Given the description of an element on the screen output the (x, y) to click on. 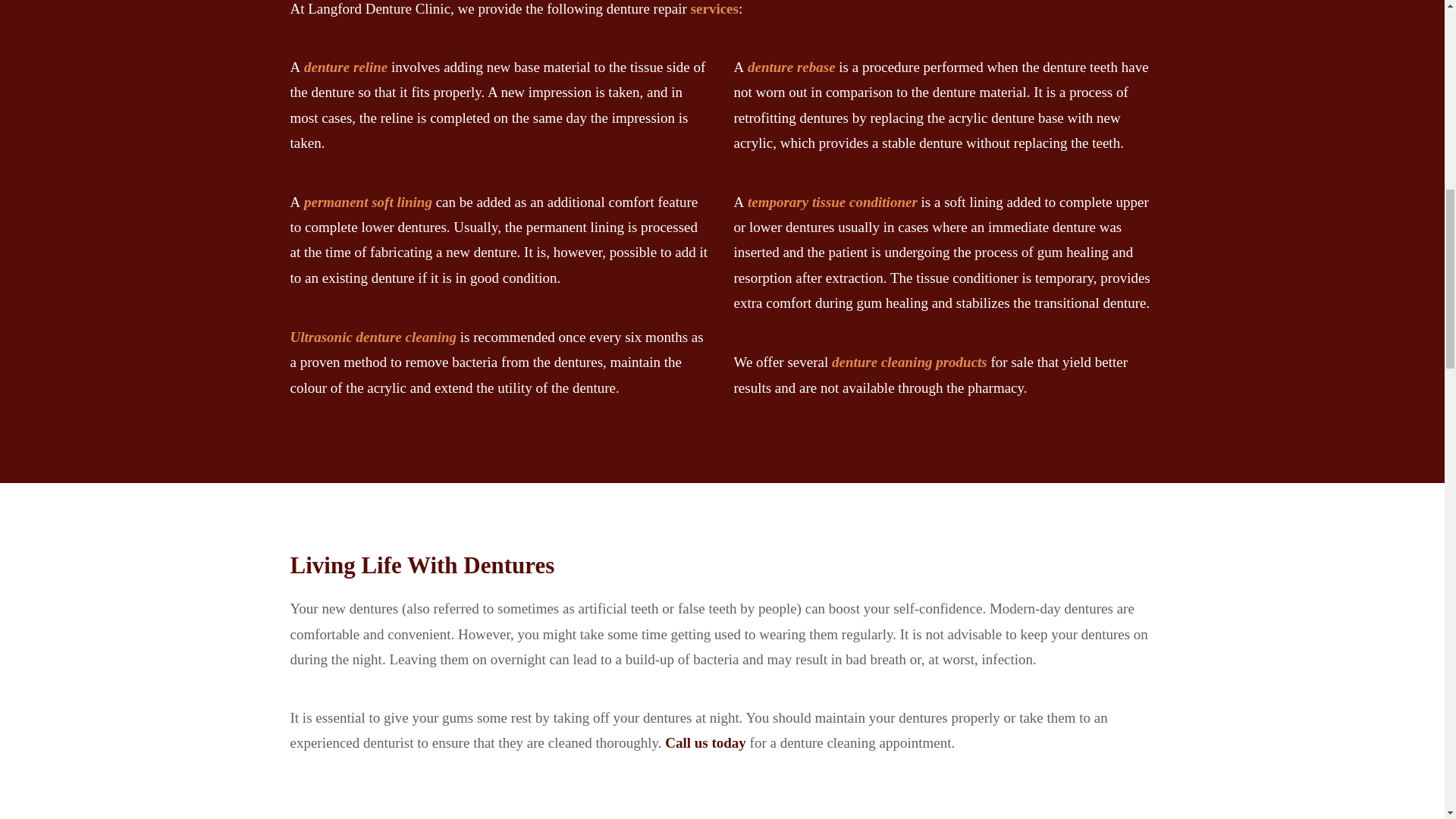
services (712, 8)
Call us today (703, 742)
